Given the description of an element on the screen output the (x, y) to click on. 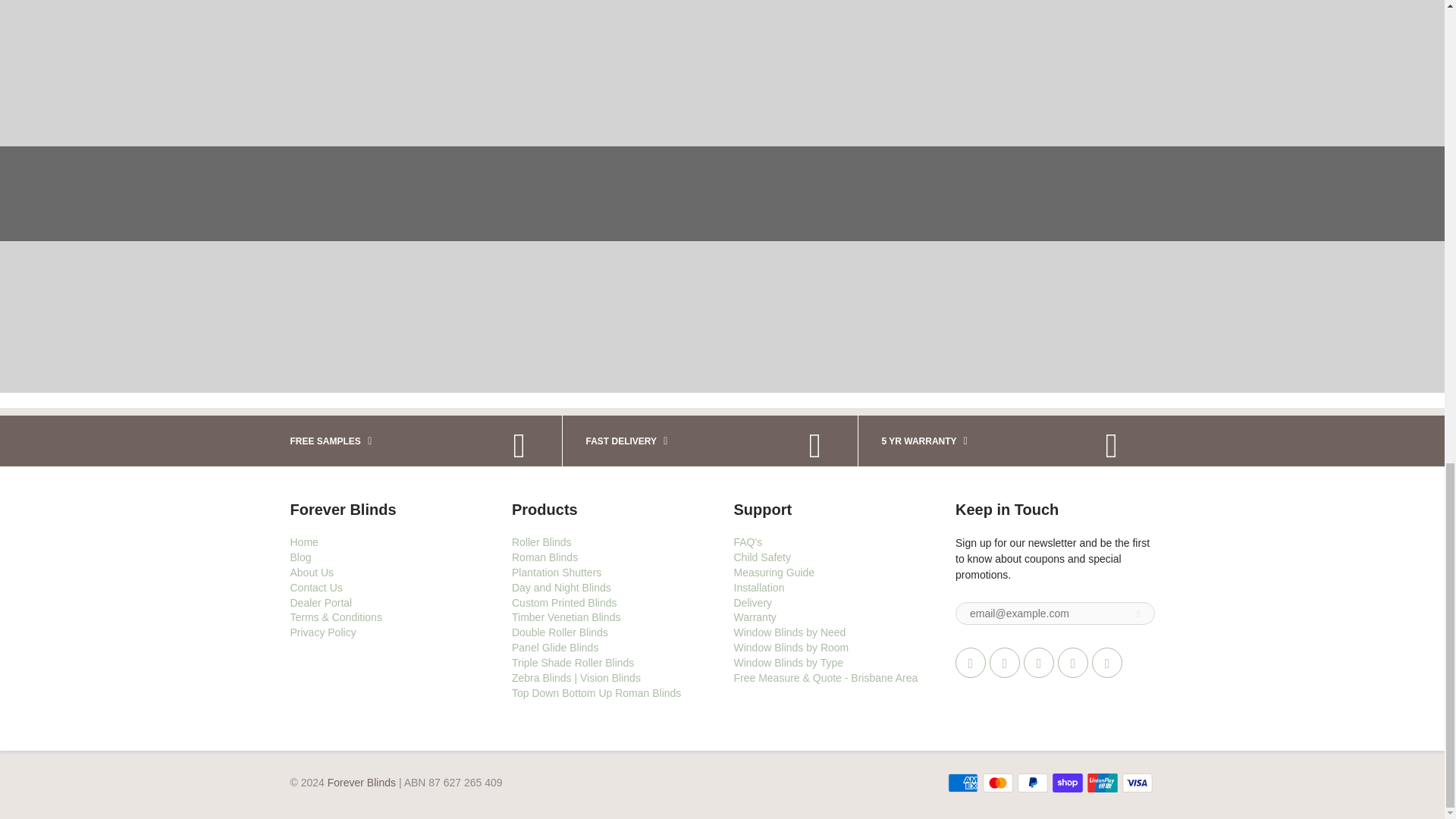
YouTube (1107, 662)
Pinterest (1038, 662)
Union Pay (1102, 782)
American Express (962, 782)
Instagram (1072, 662)
Shop Pay (1067, 782)
PayPal (1032, 782)
Visa (1137, 782)
Mastercard (997, 782)
Facebook (1005, 662)
Twitter (970, 662)
